Given the description of an element on the screen output the (x, y) to click on. 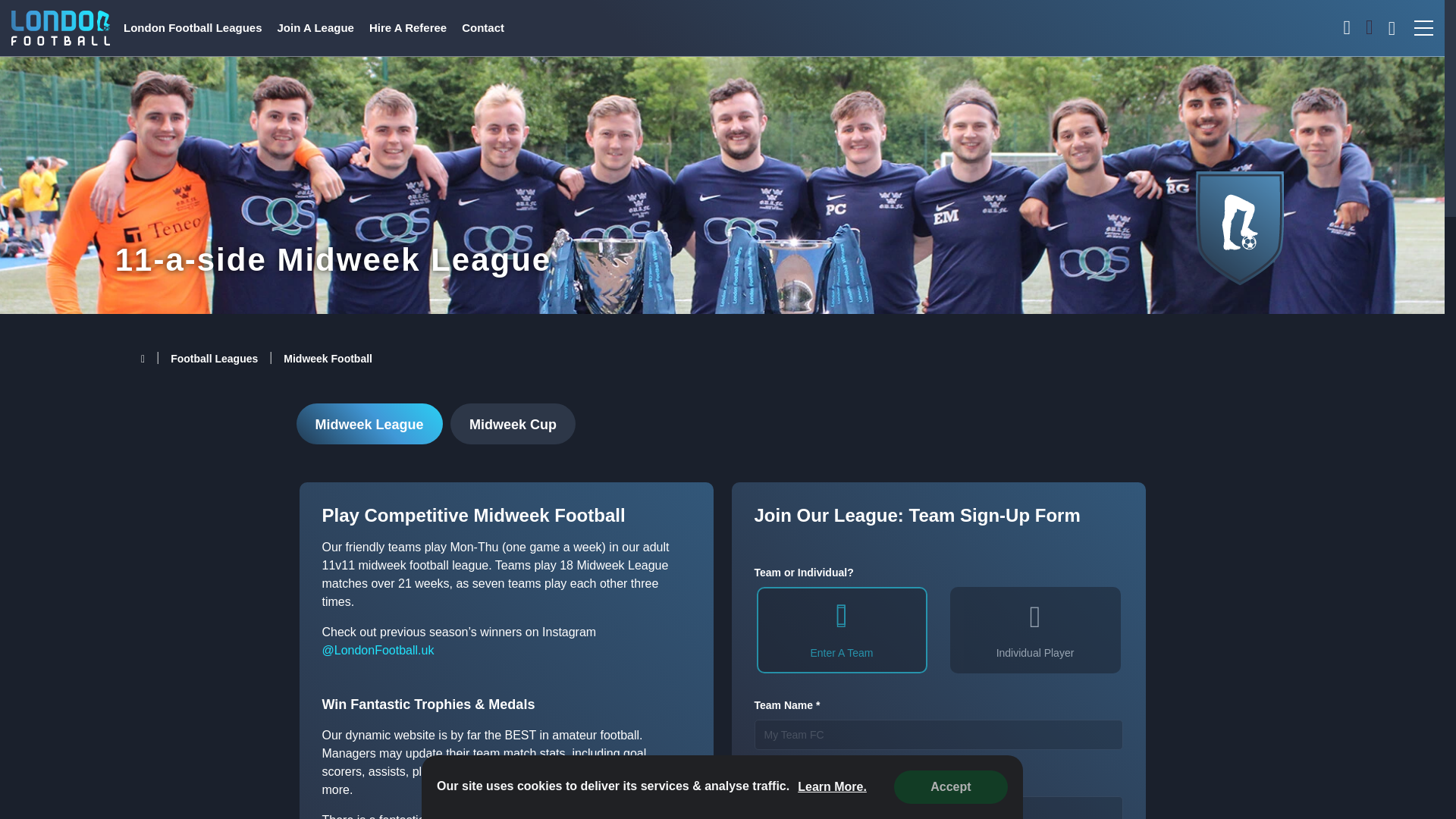
Learn More. (831, 786)
London Football Leagues (192, 28)
Contact (483, 28)
Accept (950, 786)
Midweek Football (328, 358)
View London Football on Instagram (377, 649)
Midweek League (368, 423)
Football Leagues (213, 358)
Midweek Cup (512, 423)
Join A League (315, 28)
Hire A Referee (407, 28)
